Given the description of an element on the screen output the (x, y) to click on. 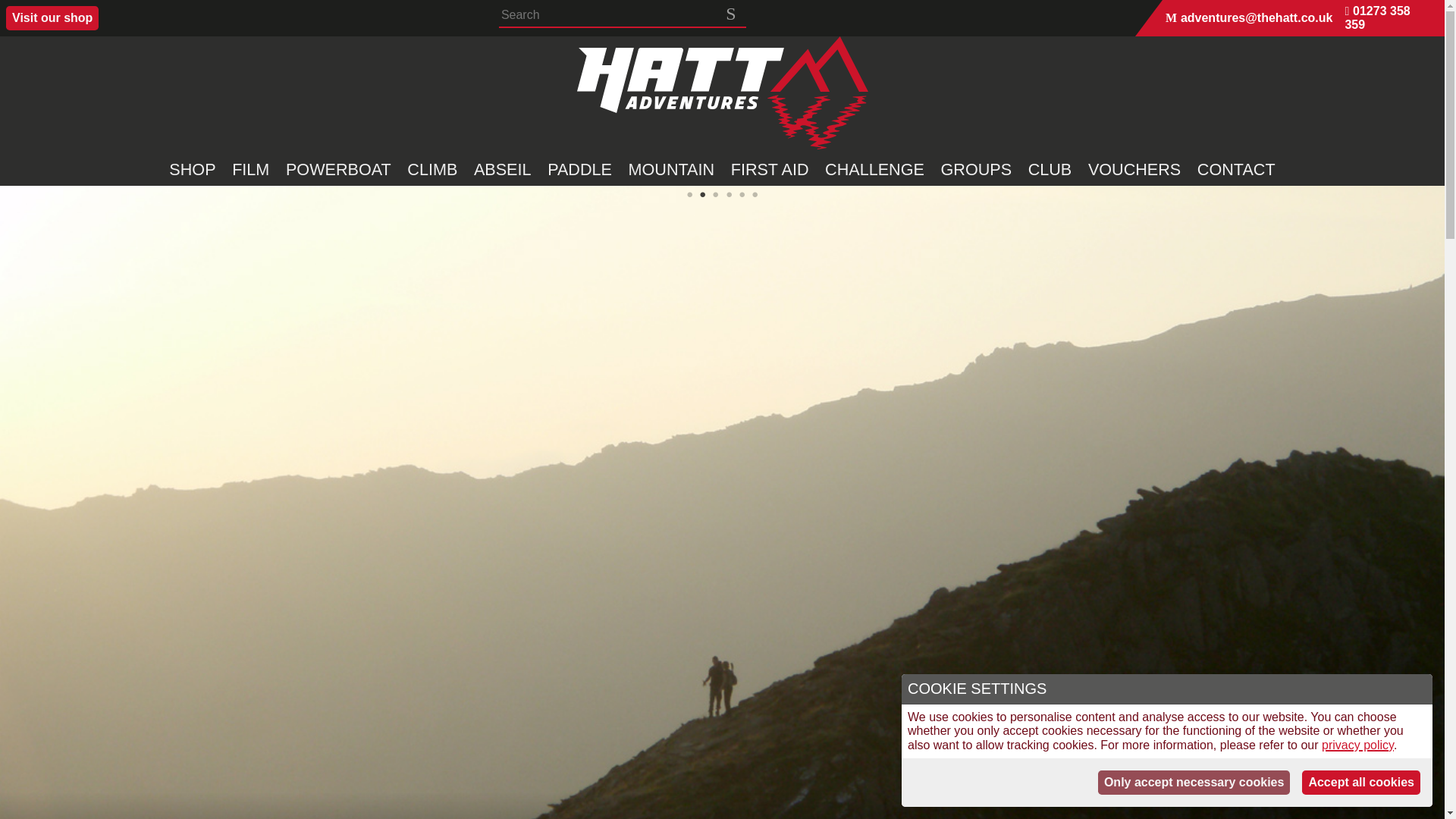
FILM (251, 169)
Visit our shop (52, 17)
CLIMB (431, 169)
SHOP (192, 169)
01273 358 359 (1387, 18)
POWERBOAT (338, 169)
